Given the description of an element on the screen output the (x, y) to click on. 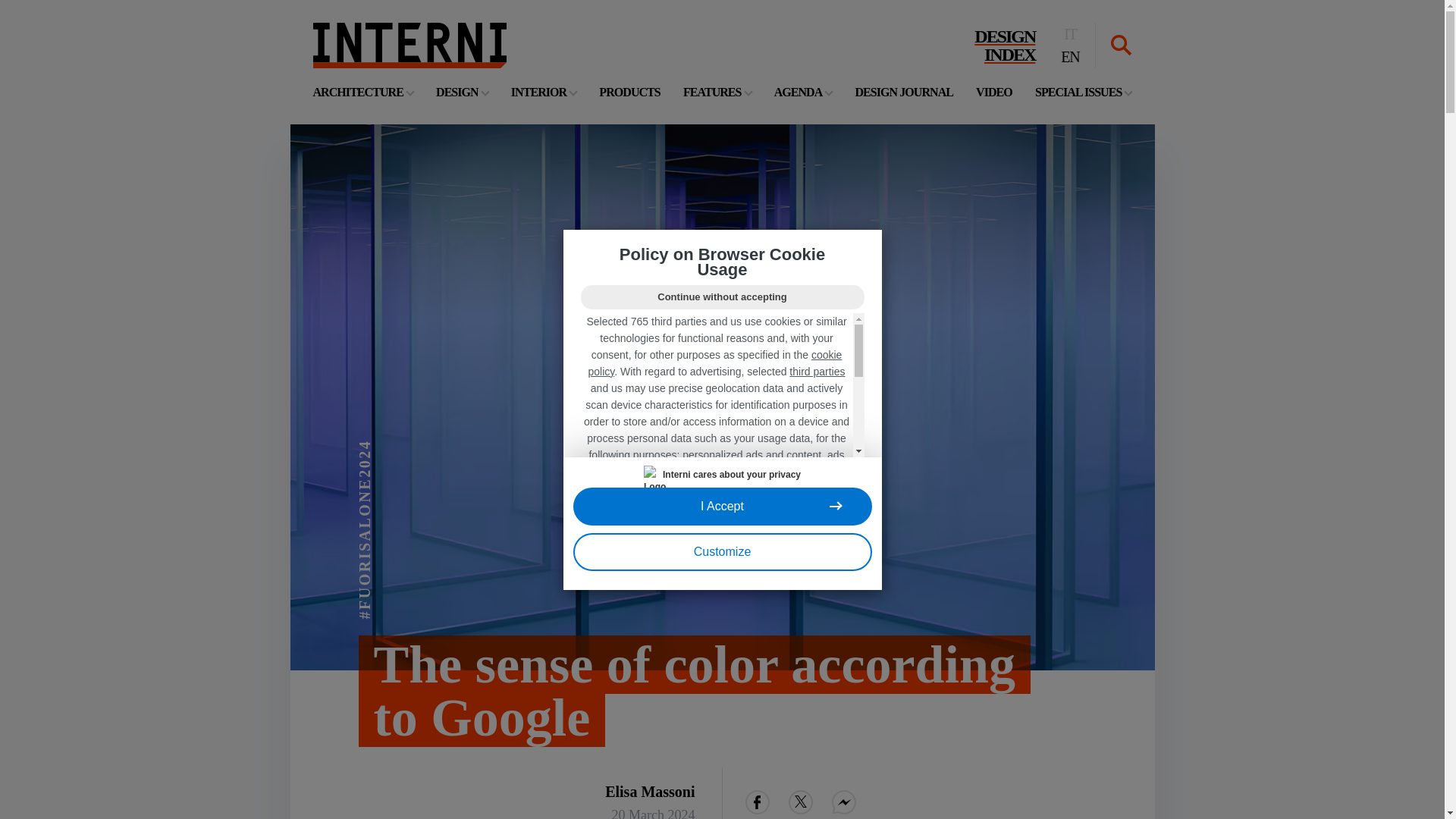
DESIGN JOURNAL (1004, 45)
The sense of color according to Google (903, 91)
ARCHITECTURE (691, 691)
interni magazine (362, 91)
VIDEO (409, 44)
SPECIAL ISSUES (993, 91)
PRODUCTS (1083, 91)
interni magazine (629, 91)
INTERIOR (409, 44)
